Given the description of an element on the screen output the (x, y) to click on. 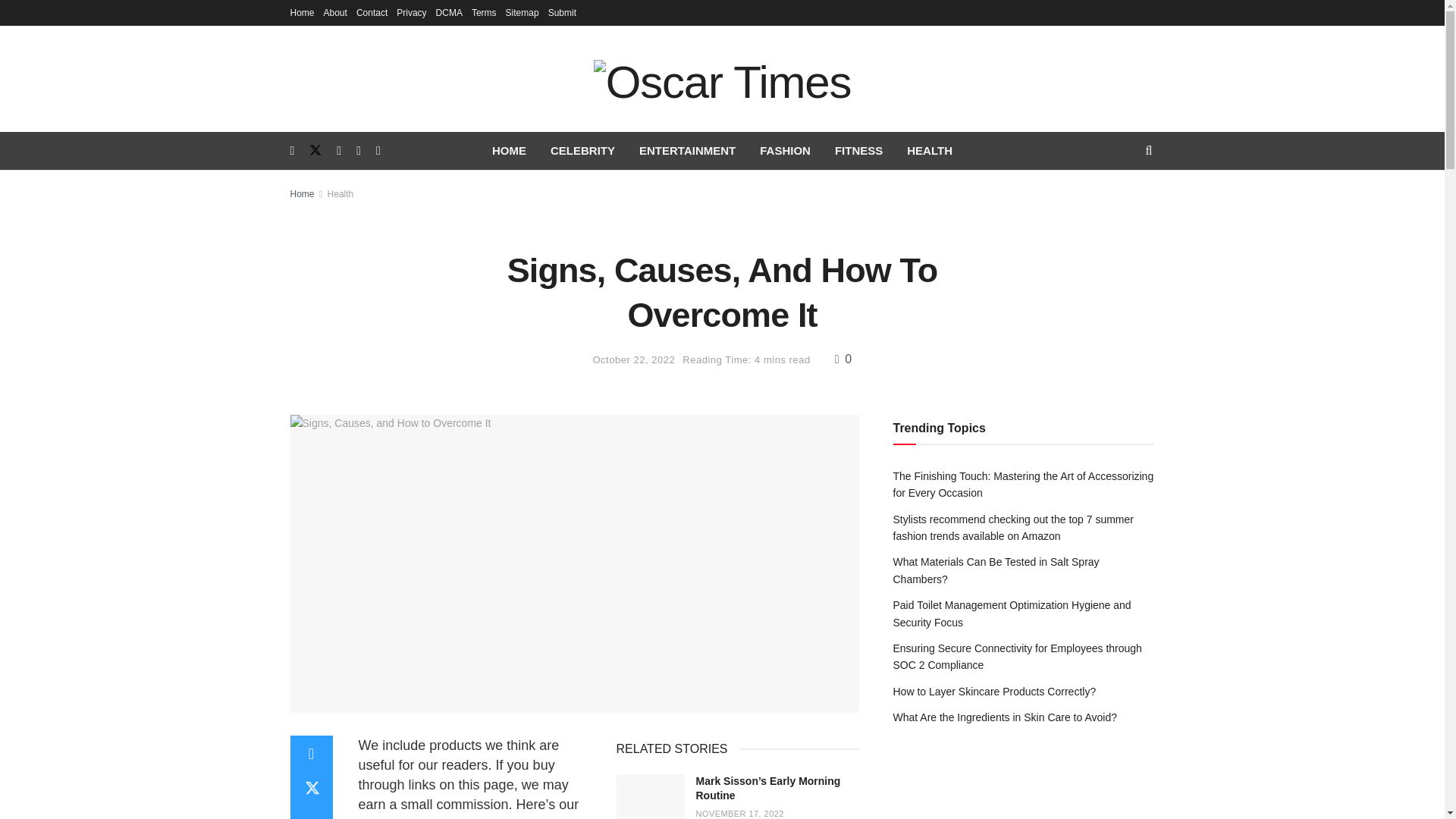
Sitemap (521, 12)
Home (301, 194)
CELEBRITY (582, 150)
Health (340, 194)
FASHION (785, 150)
Terms (483, 12)
ENTERTAINMENT (687, 150)
0 (842, 358)
About (335, 12)
Submit (562, 12)
